Given the description of an element on the screen output the (x, y) to click on. 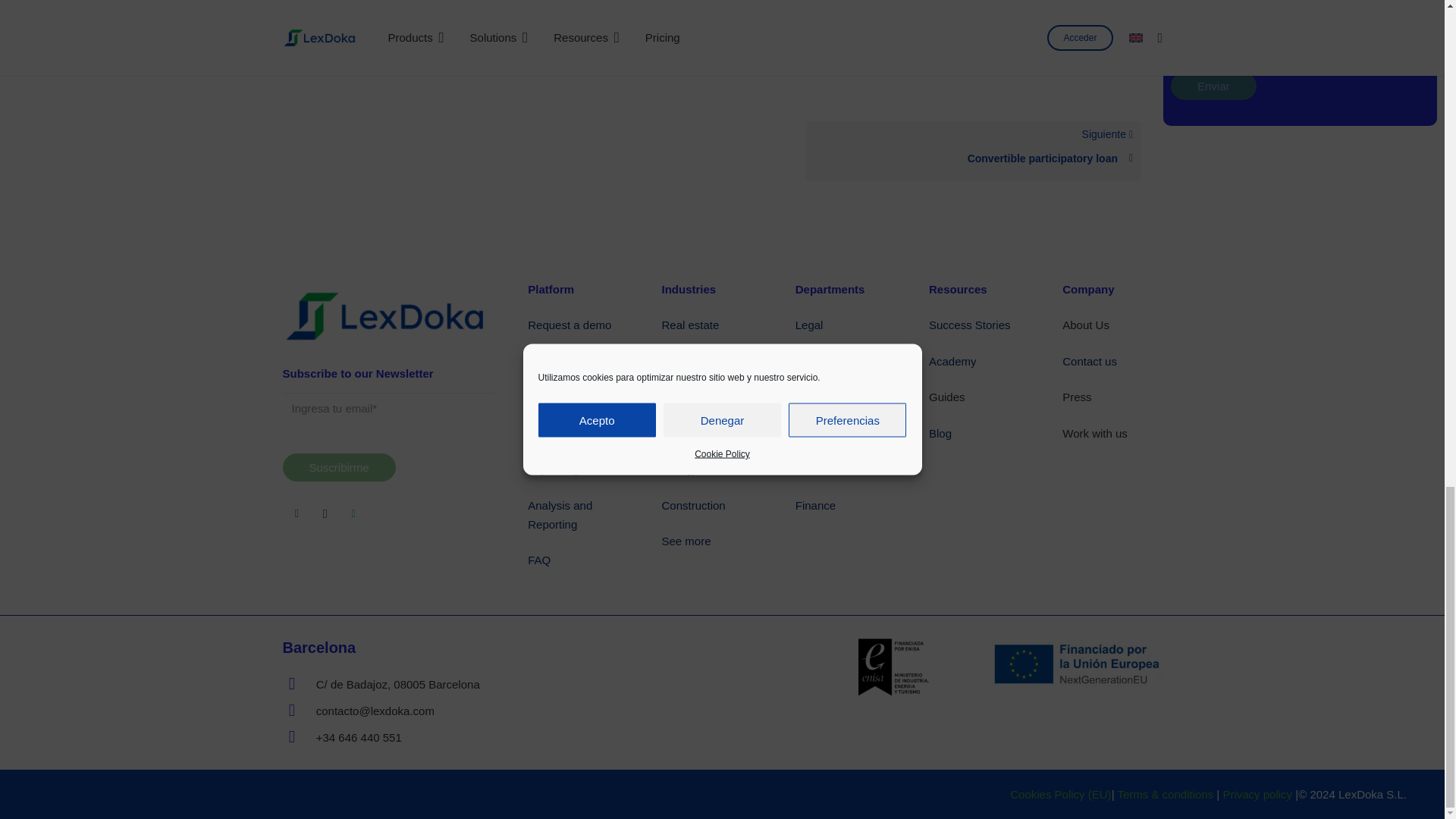
Instagram (325, 513)
Suscribirme (338, 467)
LinkedIn (296, 513)
Convertible participatory loan (972, 158)
WhatsApp (353, 513)
